Given the description of an element on the screen output the (x, y) to click on. 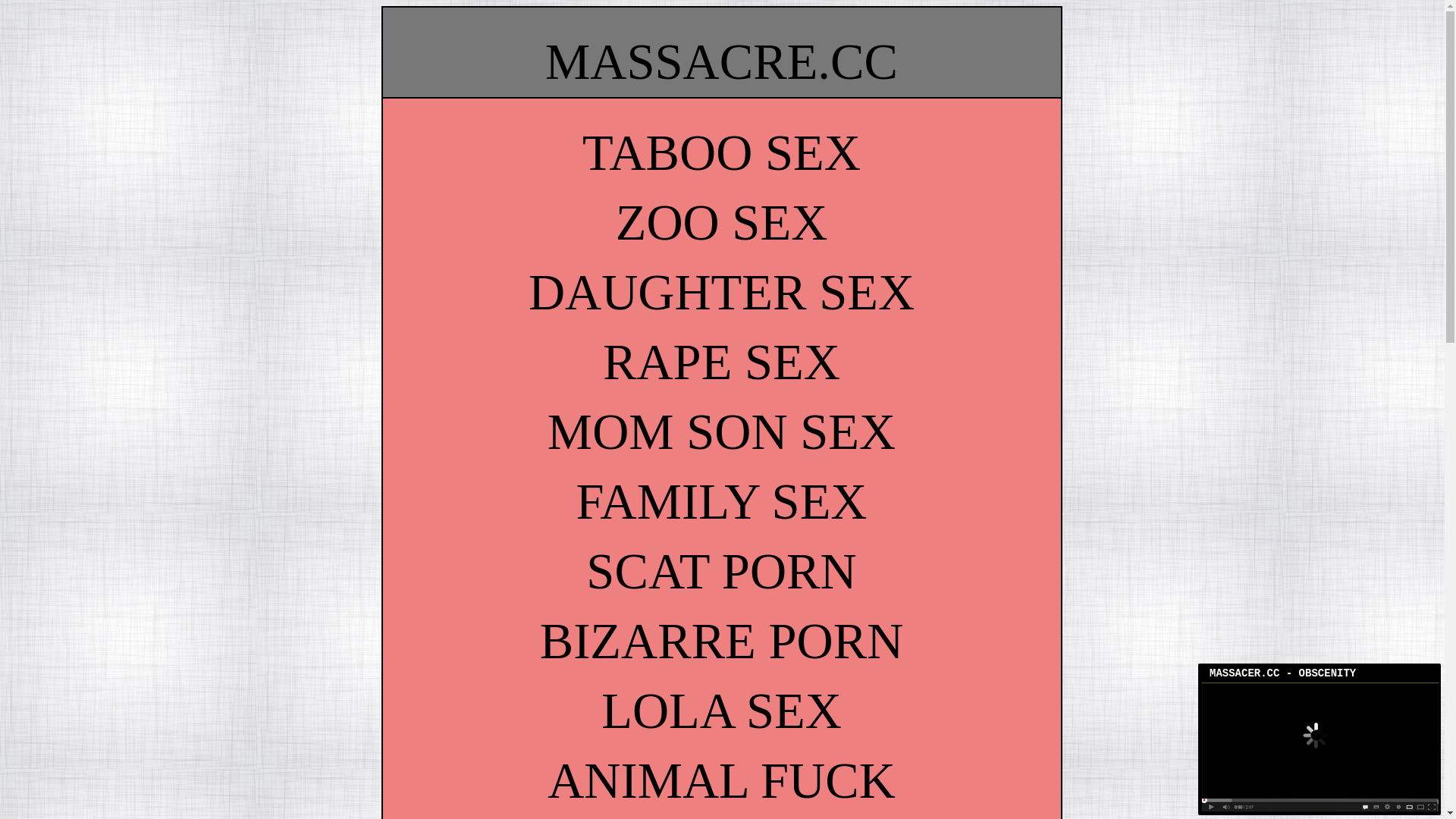
ANIMAL FUCK Element type: text (721, 780)
RAPE SEX Element type: text (721, 361)
ZOO SEX Element type: text (721, 222)
  Element type: hover (1319, 806)
MASSACER.CC - OBSCENITY Element type: text (1322, 674)
MOM SON SEX Element type: text (721, 431)
BIZARRE PORN Element type: text (721, 640)
LOLA SEX Element type: text (721, 710)
SCAT PORN Element type: text (721, 571)
TABOO SEX Element type: text (721, 152)
FAMILY SEX Element type: text (720, 501)
DAUGHTER SEX Element type: text (721, 292)
